Given the description of an element on the screen output the (x, y) to click on. 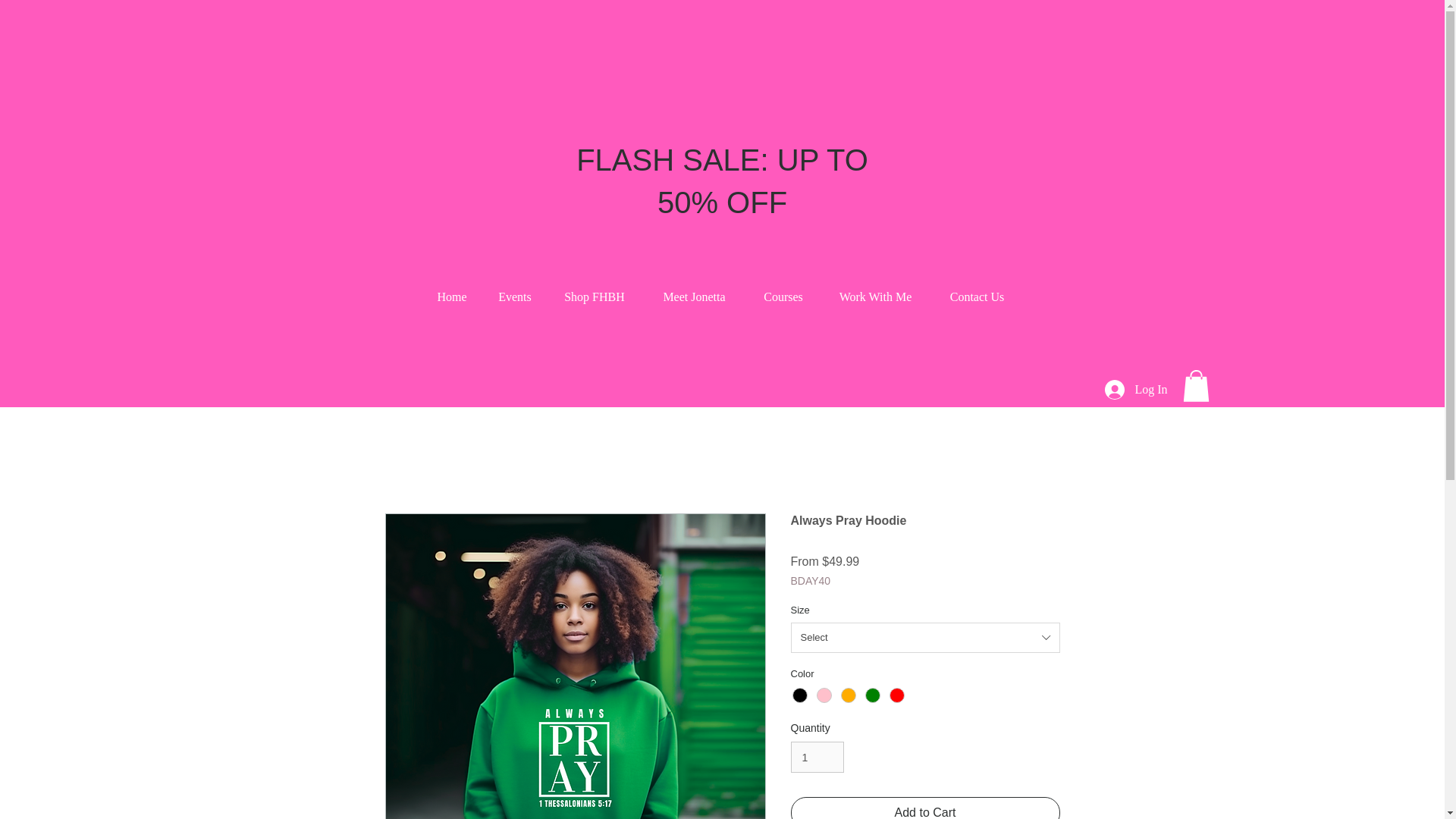
Select (924, 637)
Contact Us (977, 296)
Work With Me (875, 296)
Meet Jonetta (694, 296)
1 (817, 757)
Home (451, 296)
Add to Cart (924, 807)
Events (514, 296)
Log In (1124, 389)
Shop FHBH (594, 296)
Courses (782, 296)
